Given the description of an element on the screen output the (x, y) to click on. 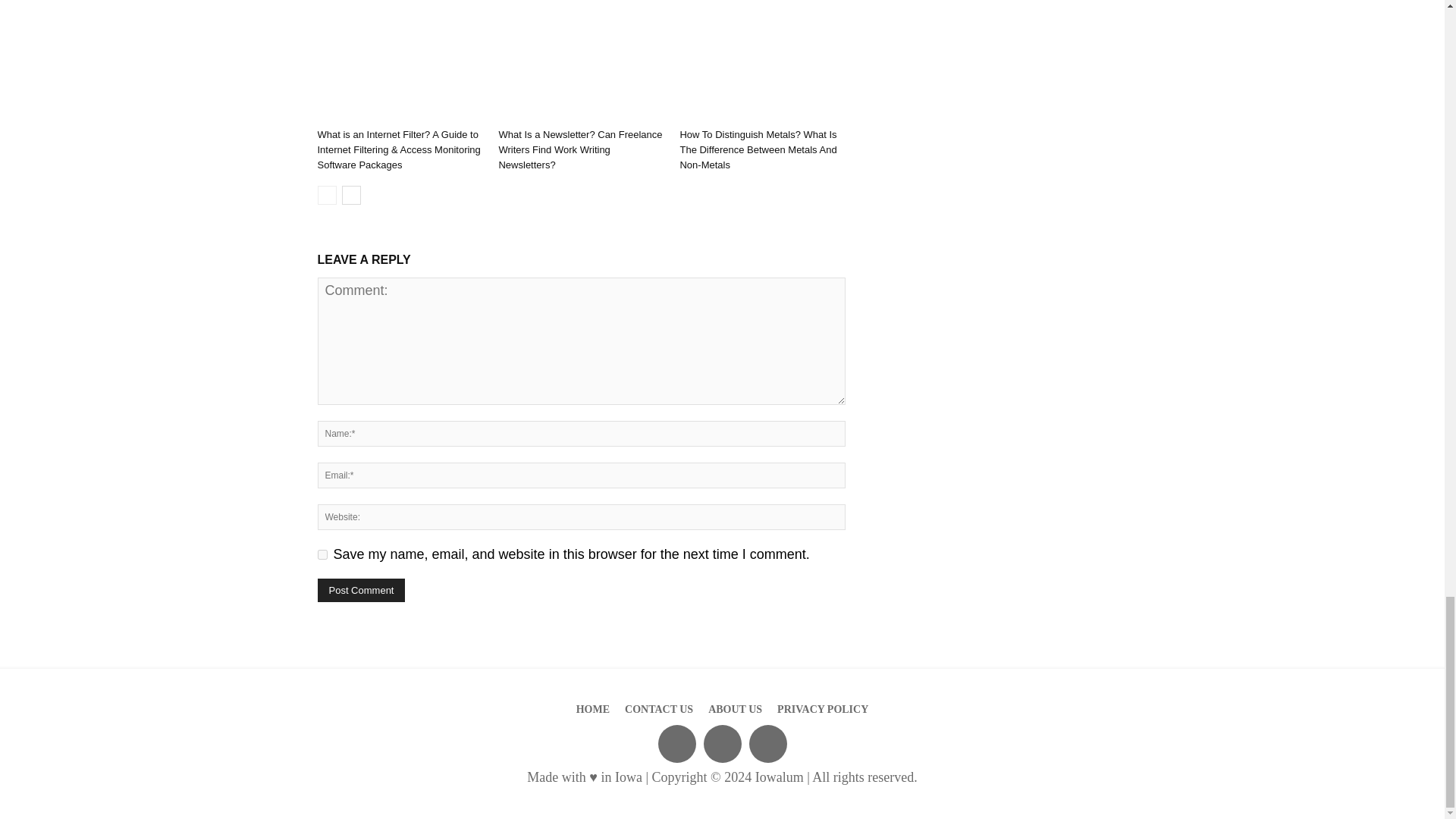
yes (321, 554)
Post Comment (360, 589)
